Given the description of an element on the screen output the (x, y) to click on. 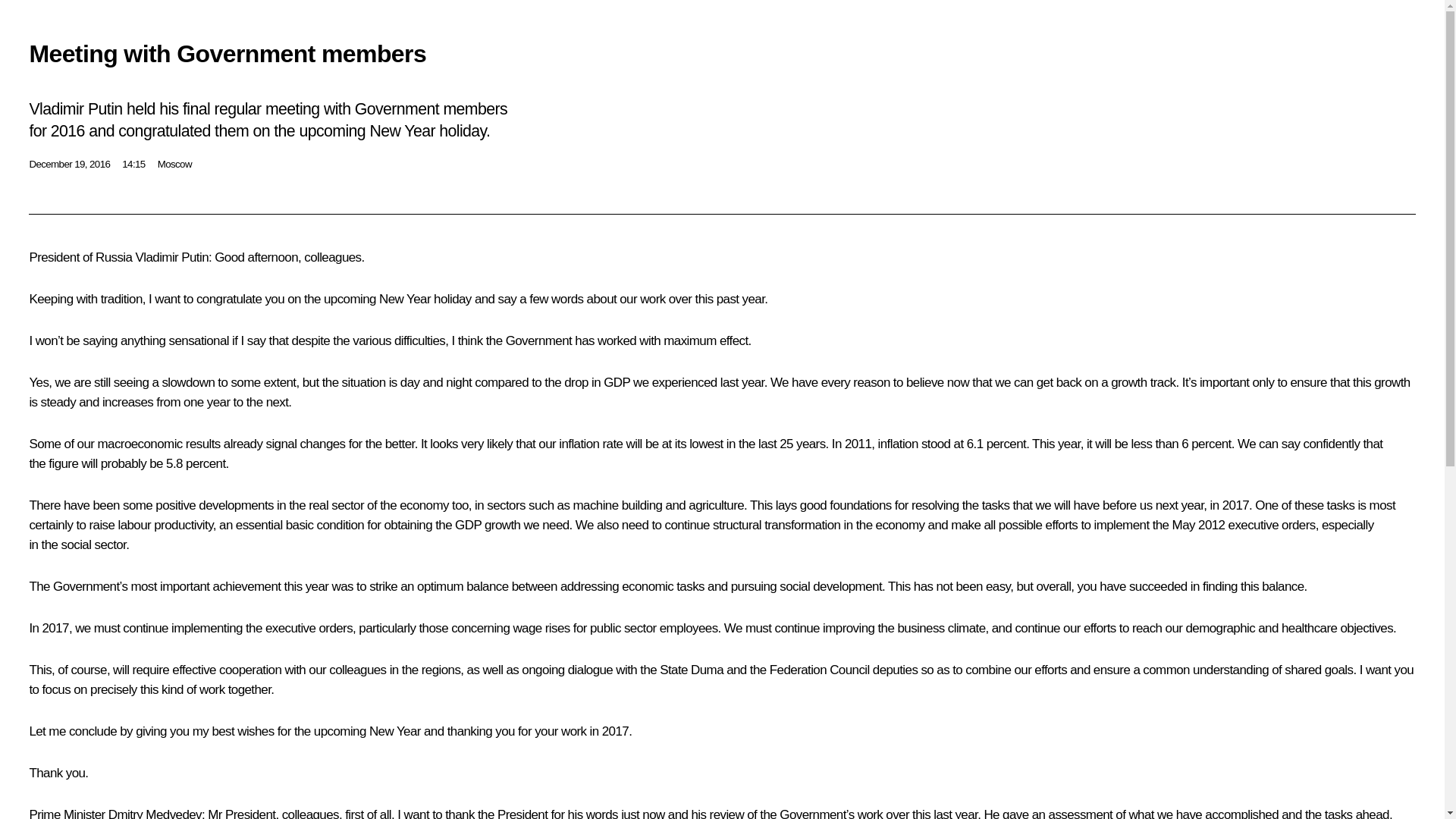
Dmitry Medvedev (154, 813)
